Given the description of an element on the screen output the (x, y) to click on. 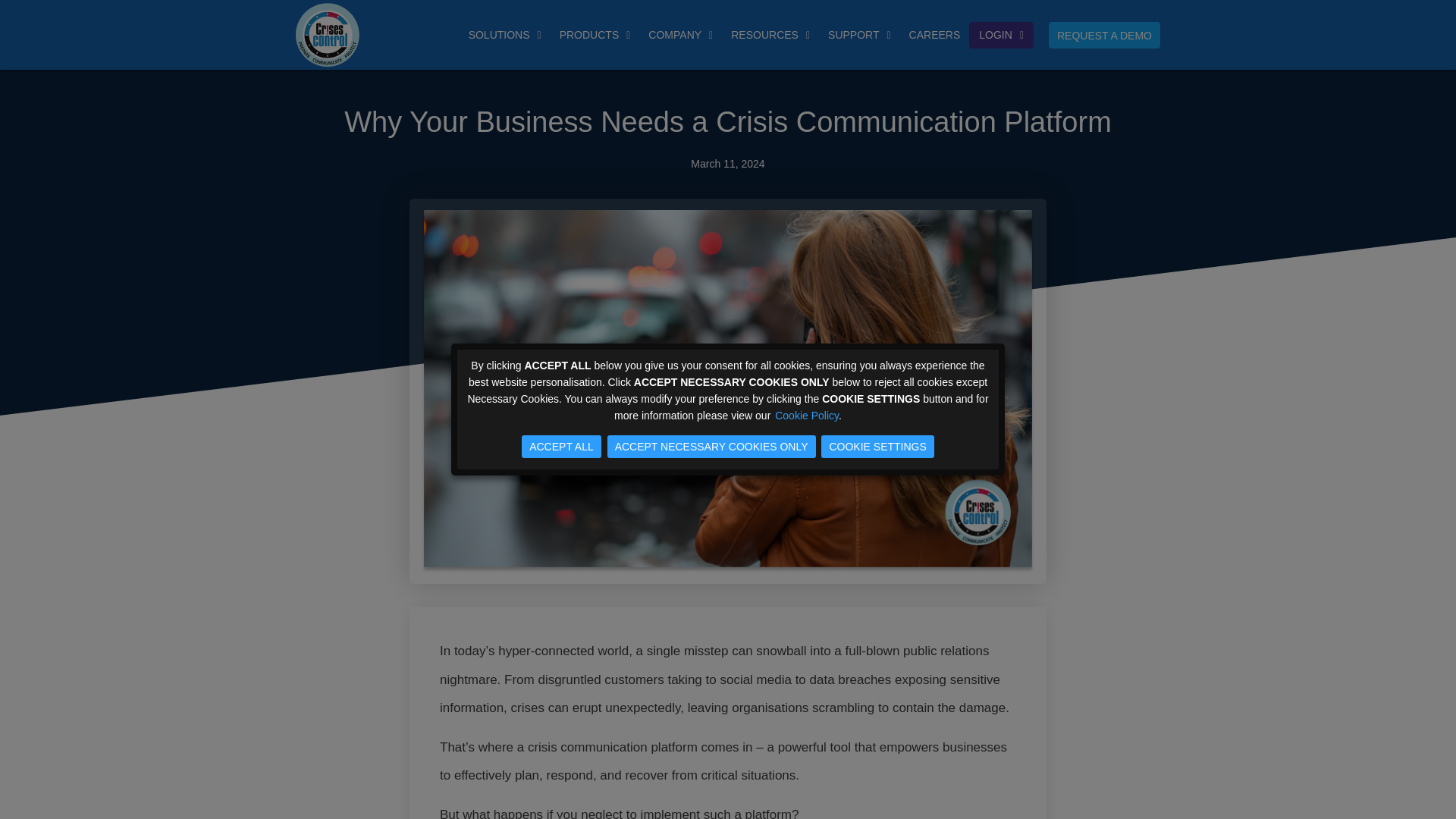
SOLUTIONS (505, 35)
PRODUCTS (595, 35)
